Given the description of an element on the screen output the (x, y) to click on. 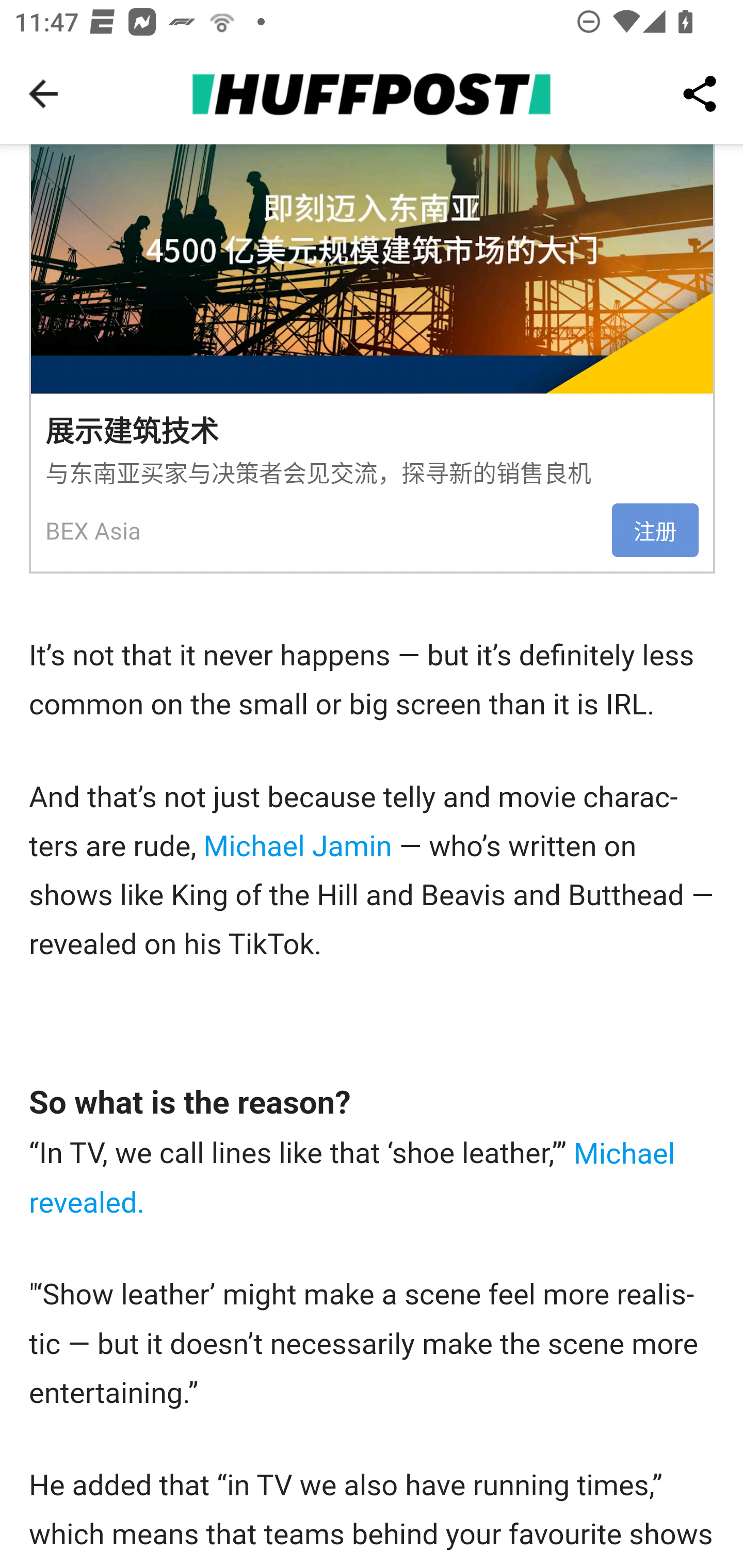
Michael Jamin (297, 846)
Michael revealed. (352, 1178)
